Given the description of an element on the screen output the (x, y) to click on. 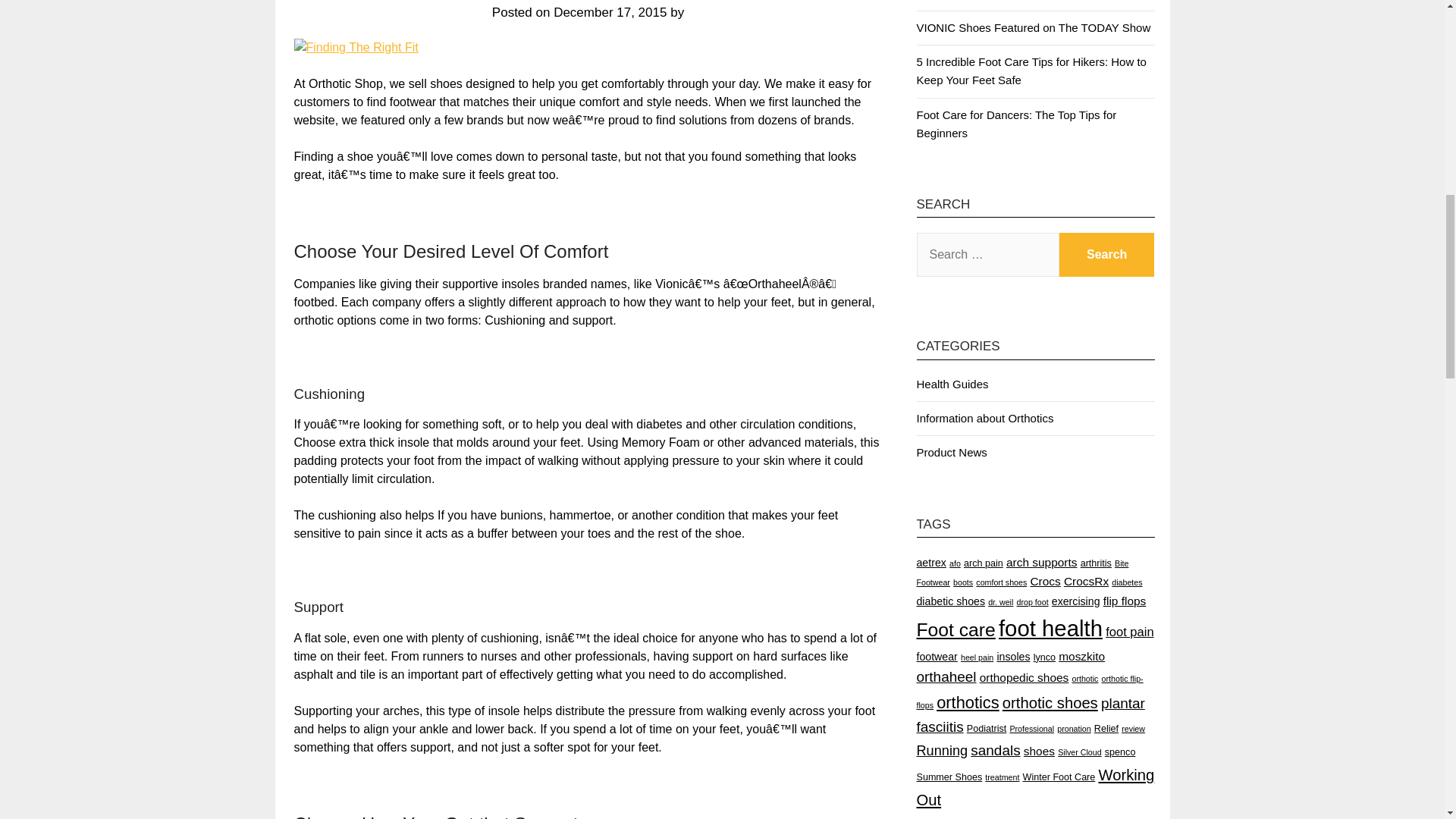
VIONIC Shoes Featured on The TODAY Show (1032, 27)
Search (1106, 254)
Search (1106, 254)
December 17, 2015 (609, 11)
Search (1106, 254)
Health Guides (951, 383)
Product News (951, 451)
